Given the description of an element on the screen output the (x, y) to click on. 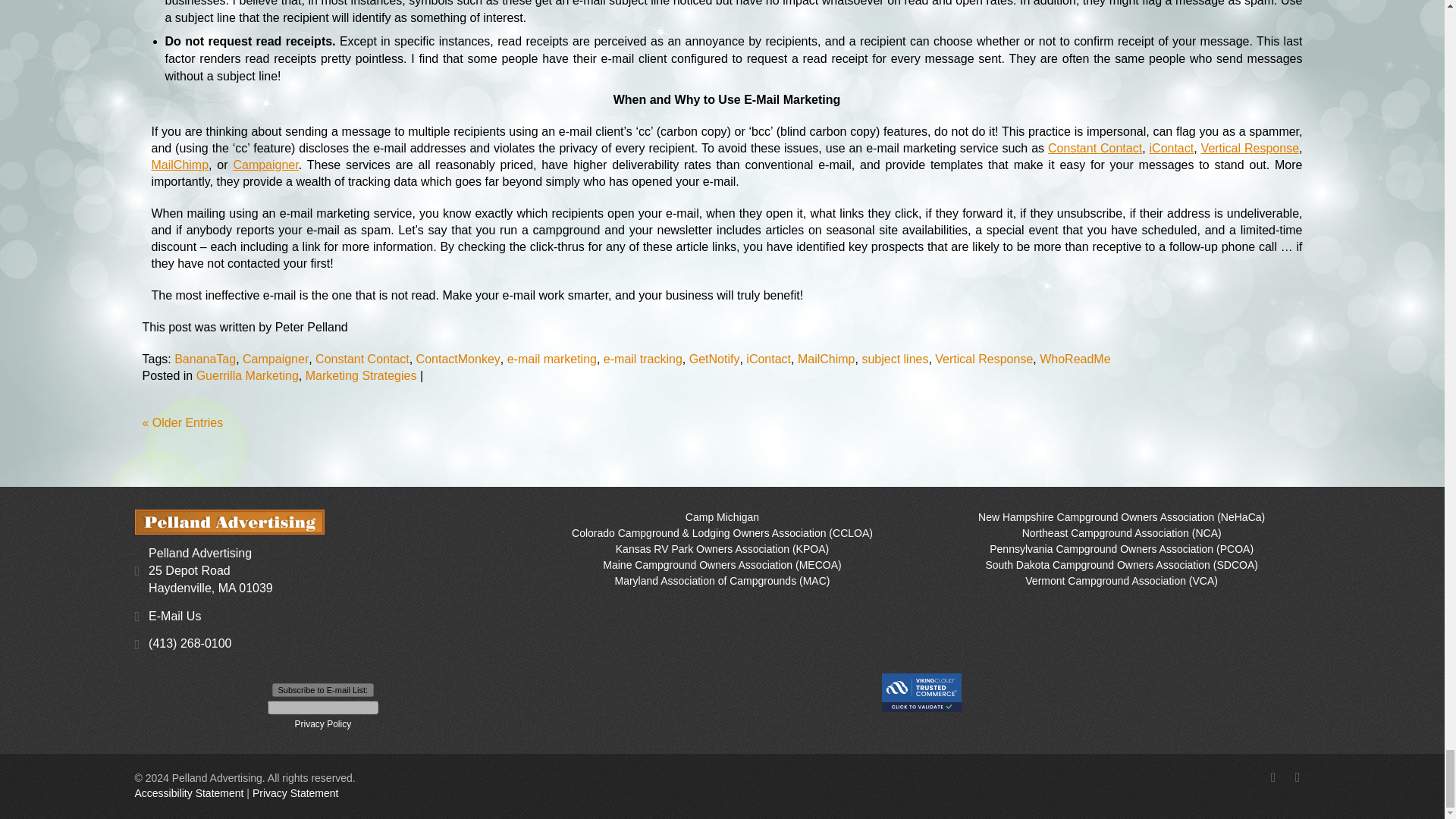
Subscribe to E-mail List: (323, 689)
